Given the description of an element on the screen output the (x, y) to click on. 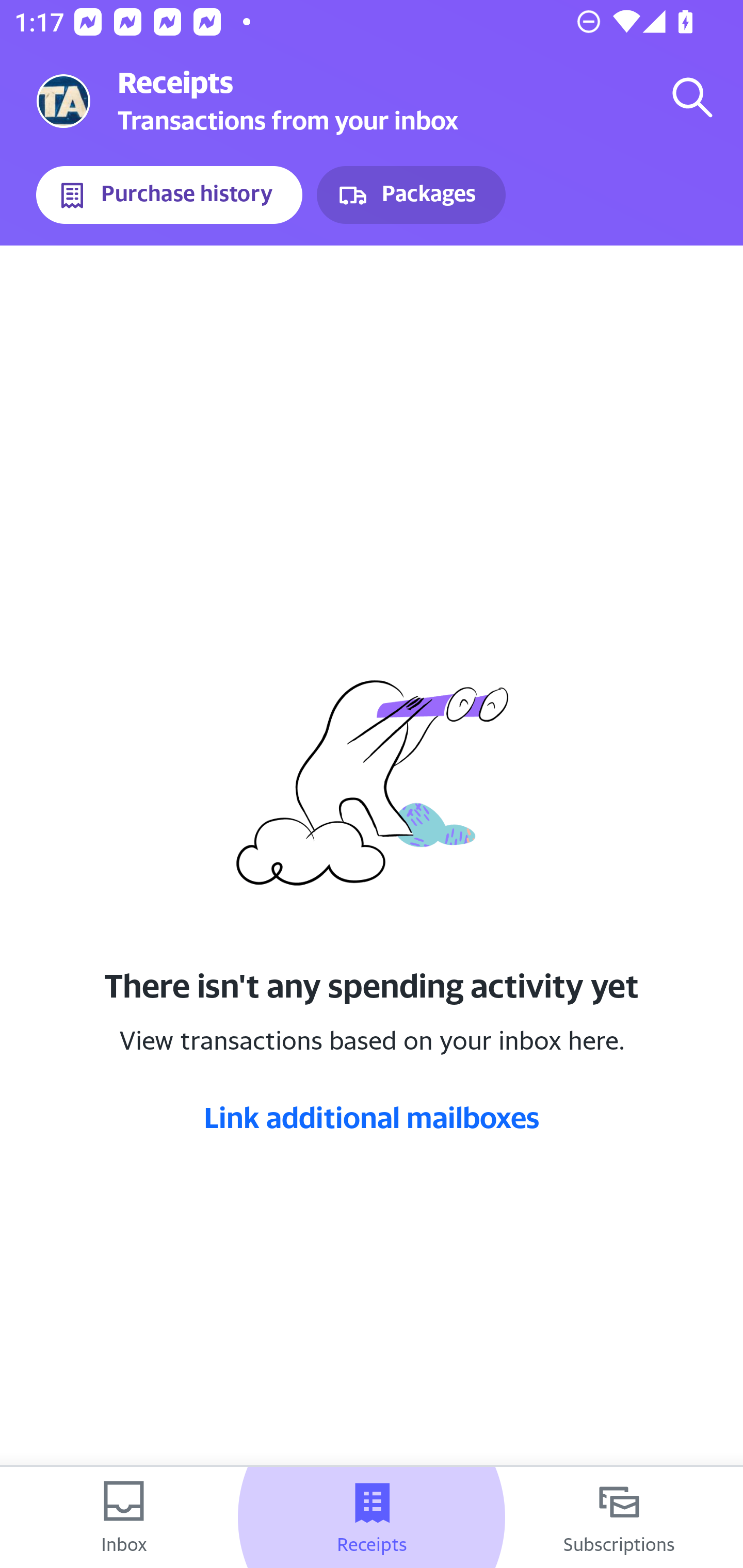
Search mail (692, 97)
Packages (410, 195)
Link additional mailboxes (371, 1117)
Inbox (123, 1517)
Receipts (371, 1517)
Subscriptions (619, 1517)
